Given the description of an element on the screen output the (x, y) to click on. 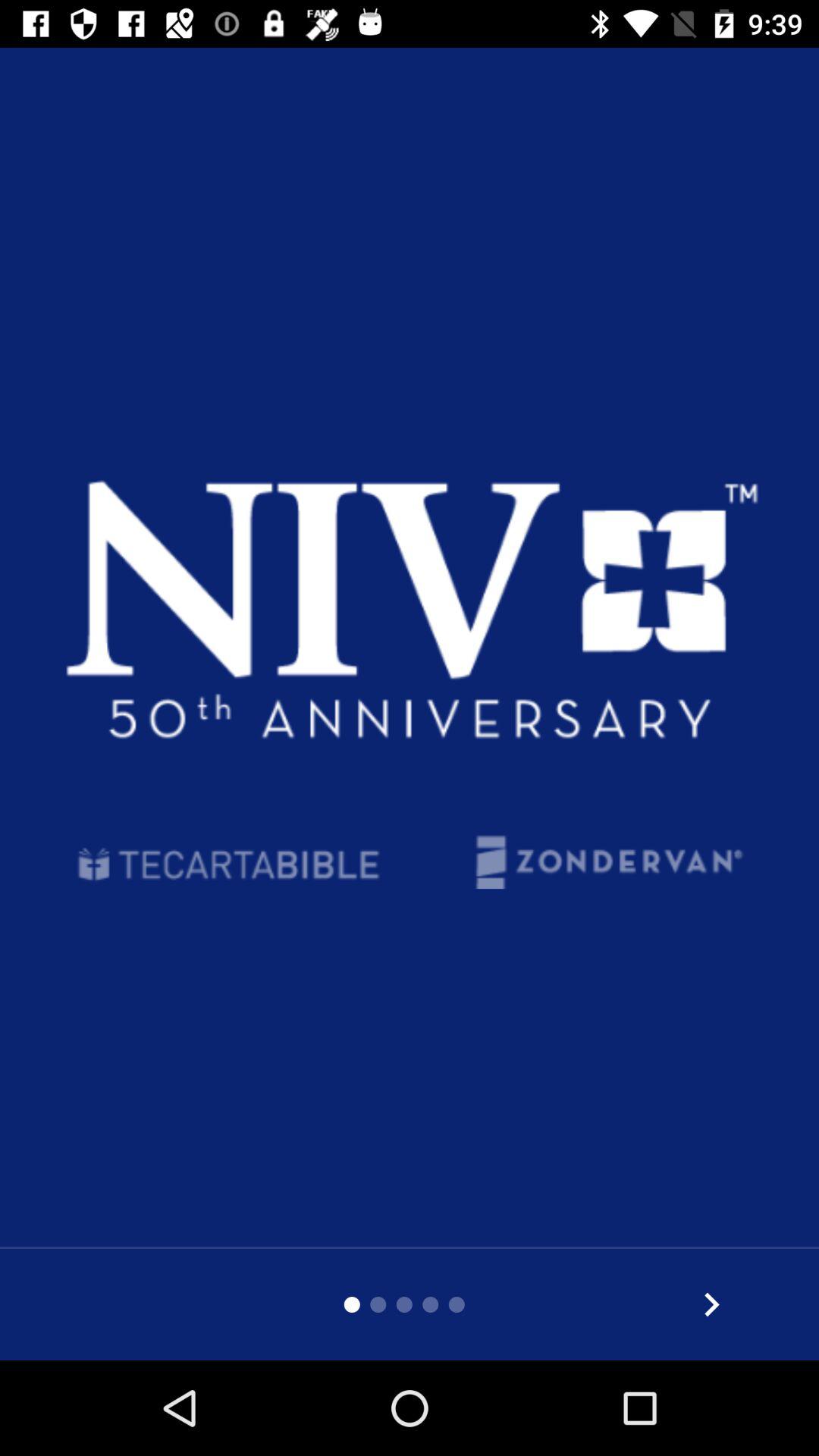
turn the page (711, 1304)
